Given the description of an element on the screen output the (x, y) to click on. 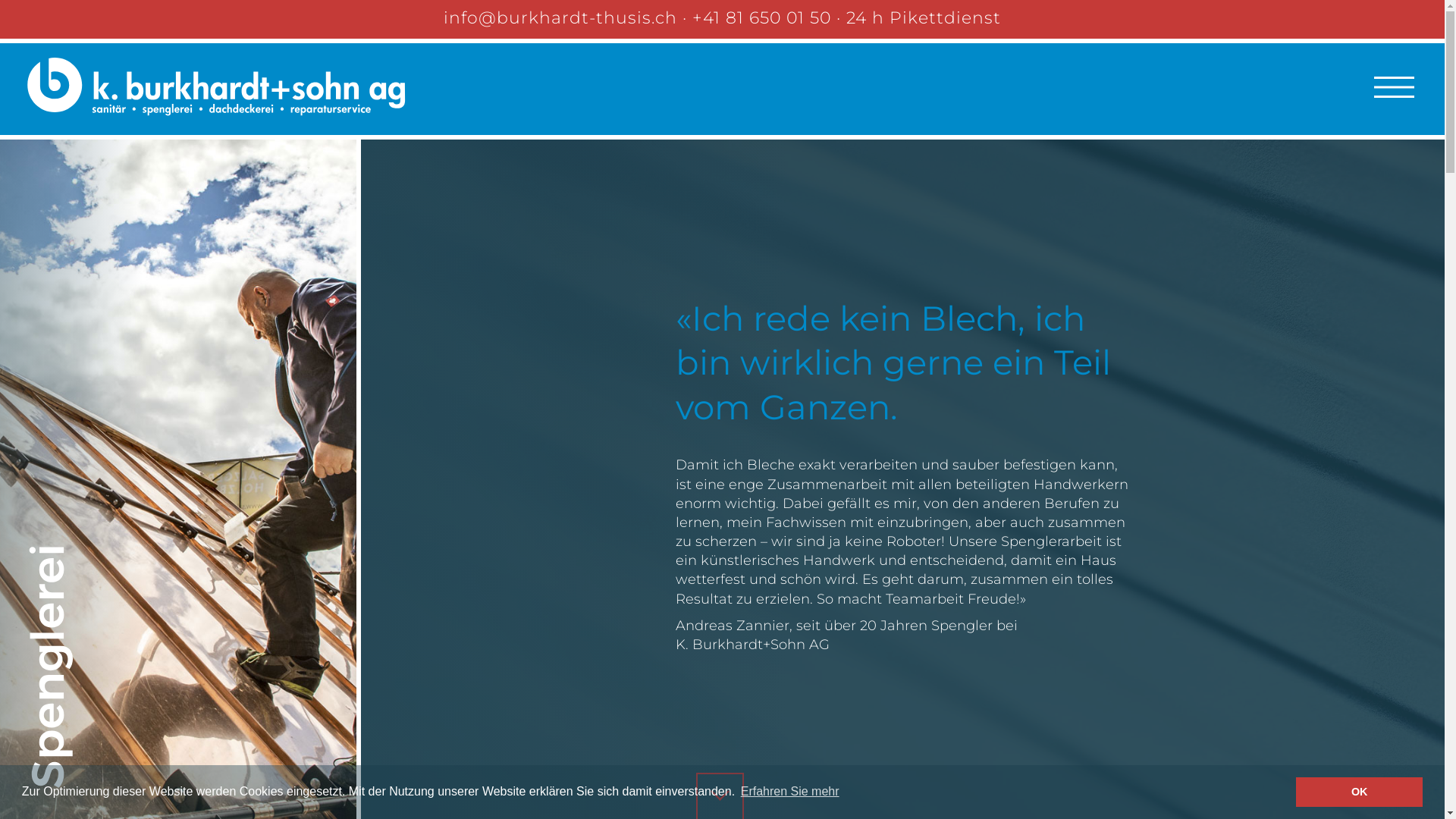
OK Element type: text (1358, 791)
info@burkhardt-thusis.ch Element type: text (560, 17)
Erfahren Sie mehr Element type: text (789, 791)
